Given the description of an element on the screen output the (x, y) to click on. 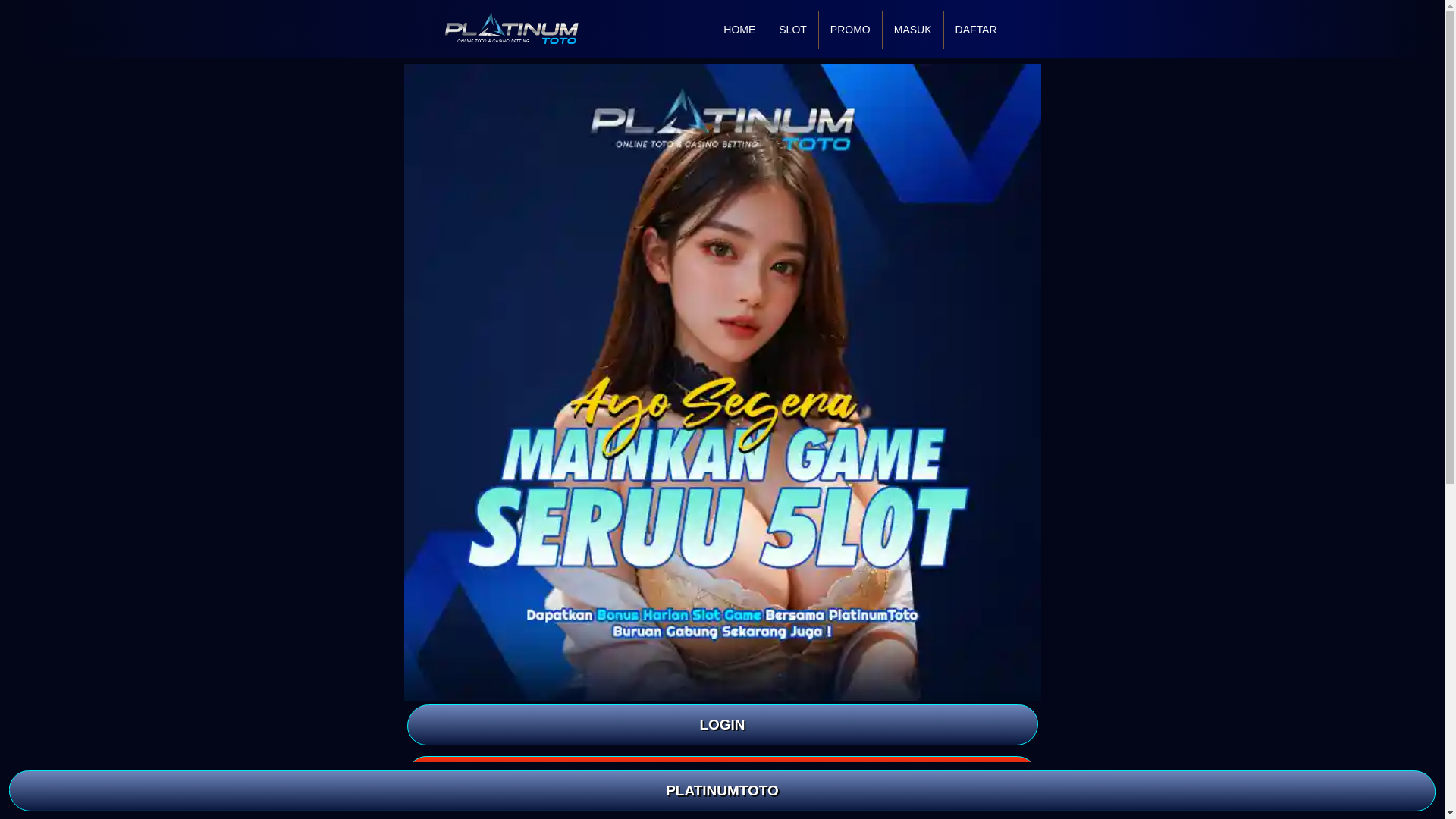
PROMO (850, 29)
DAFTAR (976, 29)
LOGIN (721, 724)
SLOT (792, 29)
HOME (739, 29)
DAFTAR (721, 775)
MASUK (912, 29)
